Given the description of an element on the screen output the (x, y) to click on. 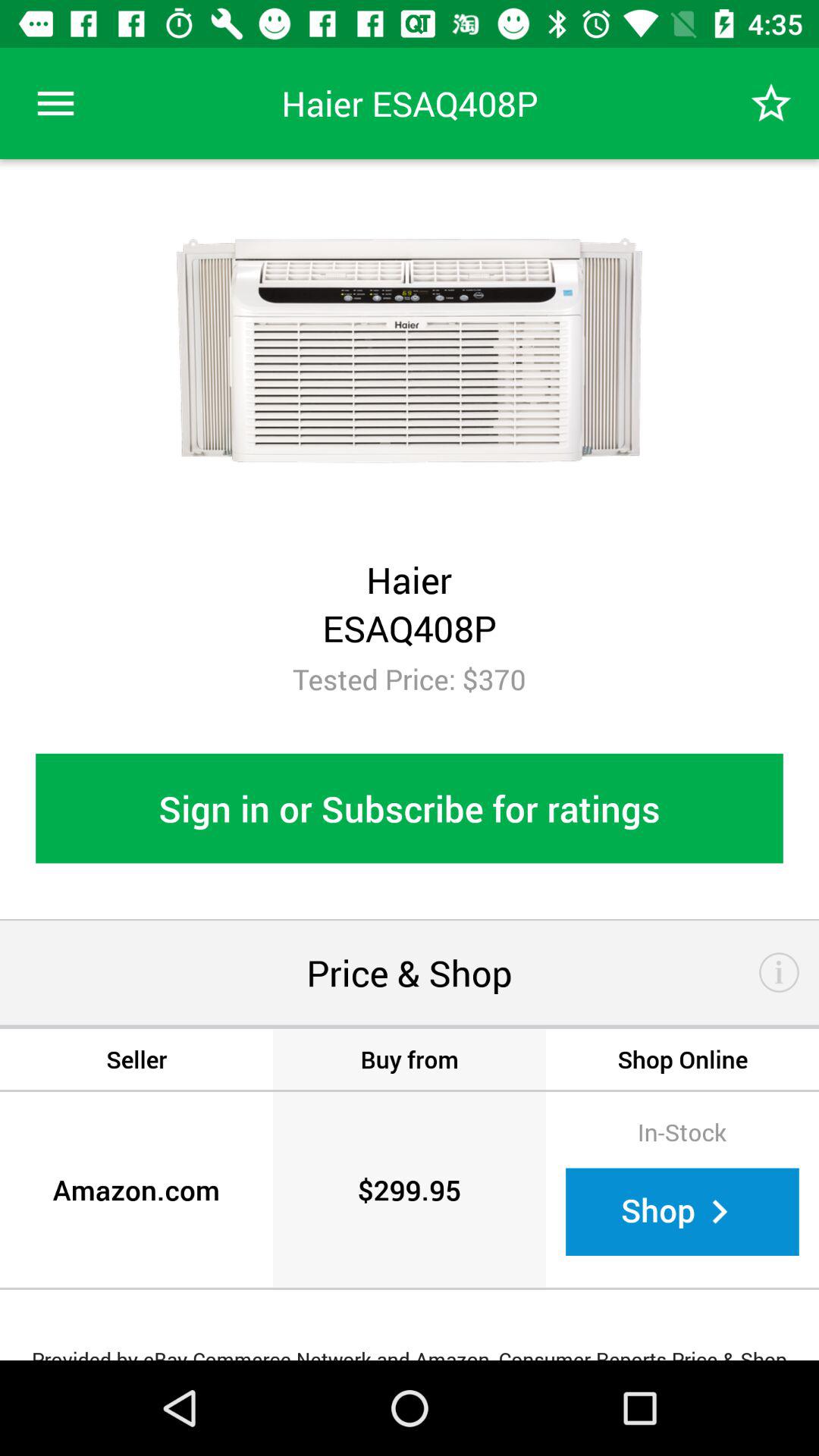
open the item to the right of the price & shop icon (779, 972)
